Given the description of an element on the screen output the (x, y) to click on. 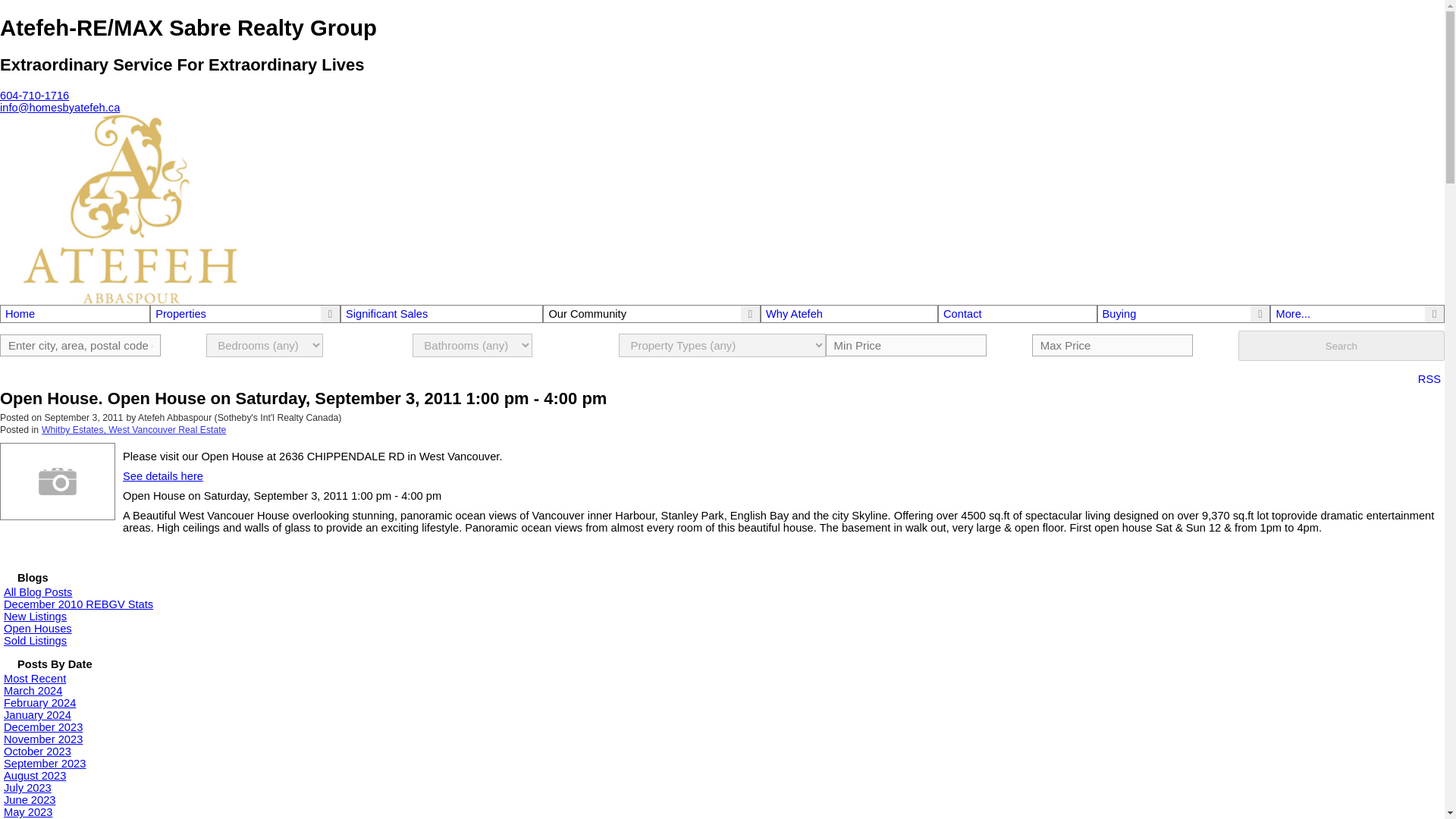
Whitby Estates, West Vancouver Real Estate (133, 429)
Buying (1119, 313)
Contact (1017, 313)
Our Community (587, 313)
604-710-1716 (34, 95)
See details here (162, 476)
Why Atefeh (849, 313)
Home (74, 313)
More... (1292, 313)
Properties (180, 313)
Significant Sales (441, 313)
